Given the description of an element on the screen output the (x, y) to click on. 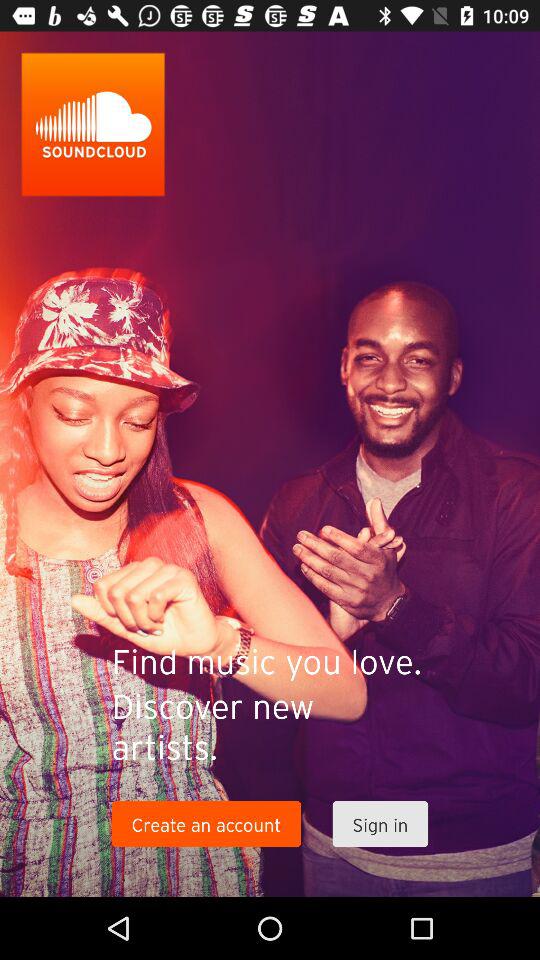
turn on the item next to sign in (206, 824)
